Given the description of an element on the screen output the (x, y) to click on. 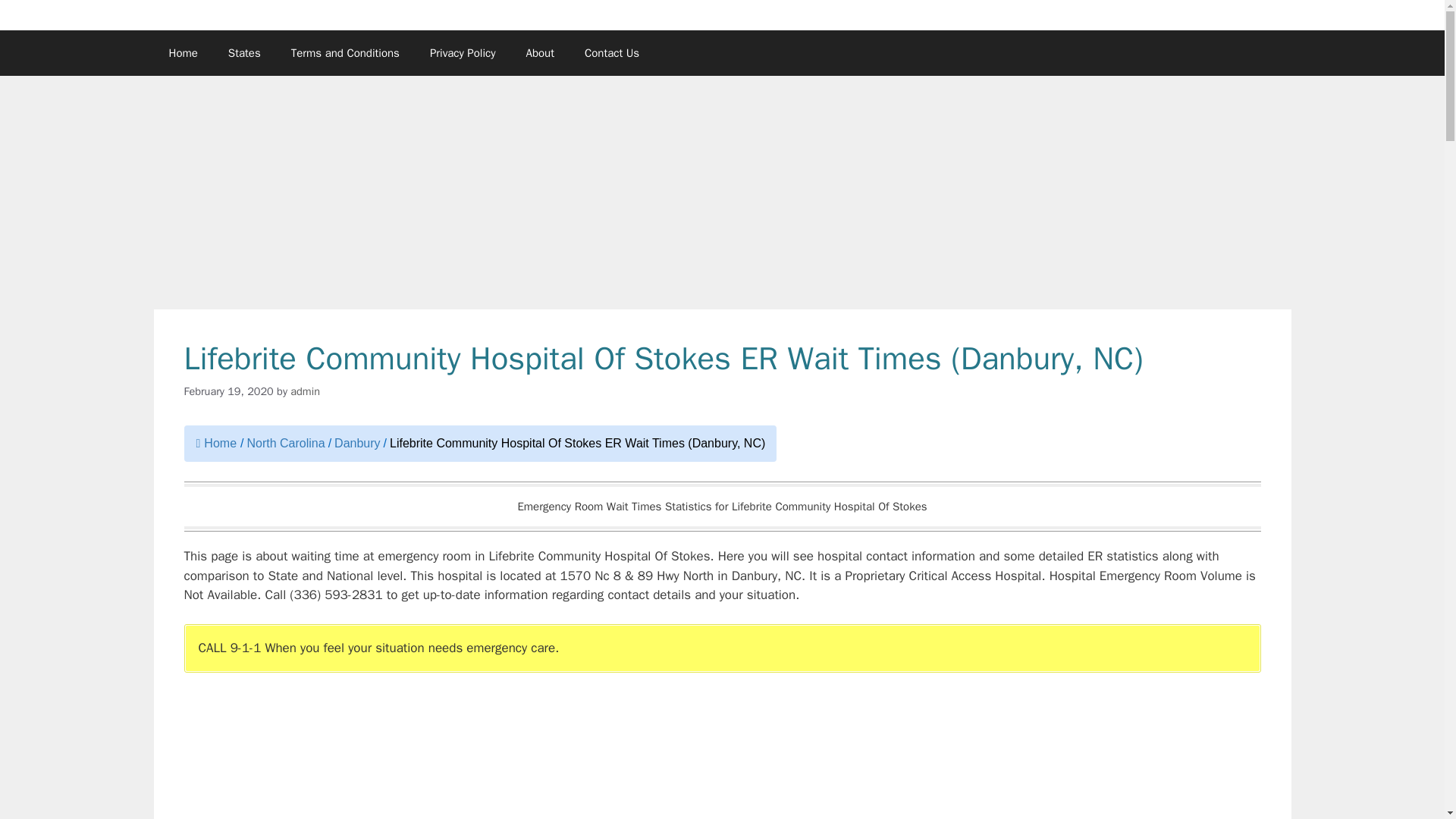
Category Name (285, 442)
States (244, 53)
North Carolina (285, 442)
Privacy Policy (462, 53)
Advertisement (638, 755)
View all posts by admin (304, 391)
Home (182, 53)
Danbury (357, 442)
admin (304, 391)
Contact Us (611, 53)
Danbury (357, 442)
Home (215, 442)
About (540, 53)
Terms and Conditions (345, 53)
